Given the description of an element on the screen output the (x, y) to click on. 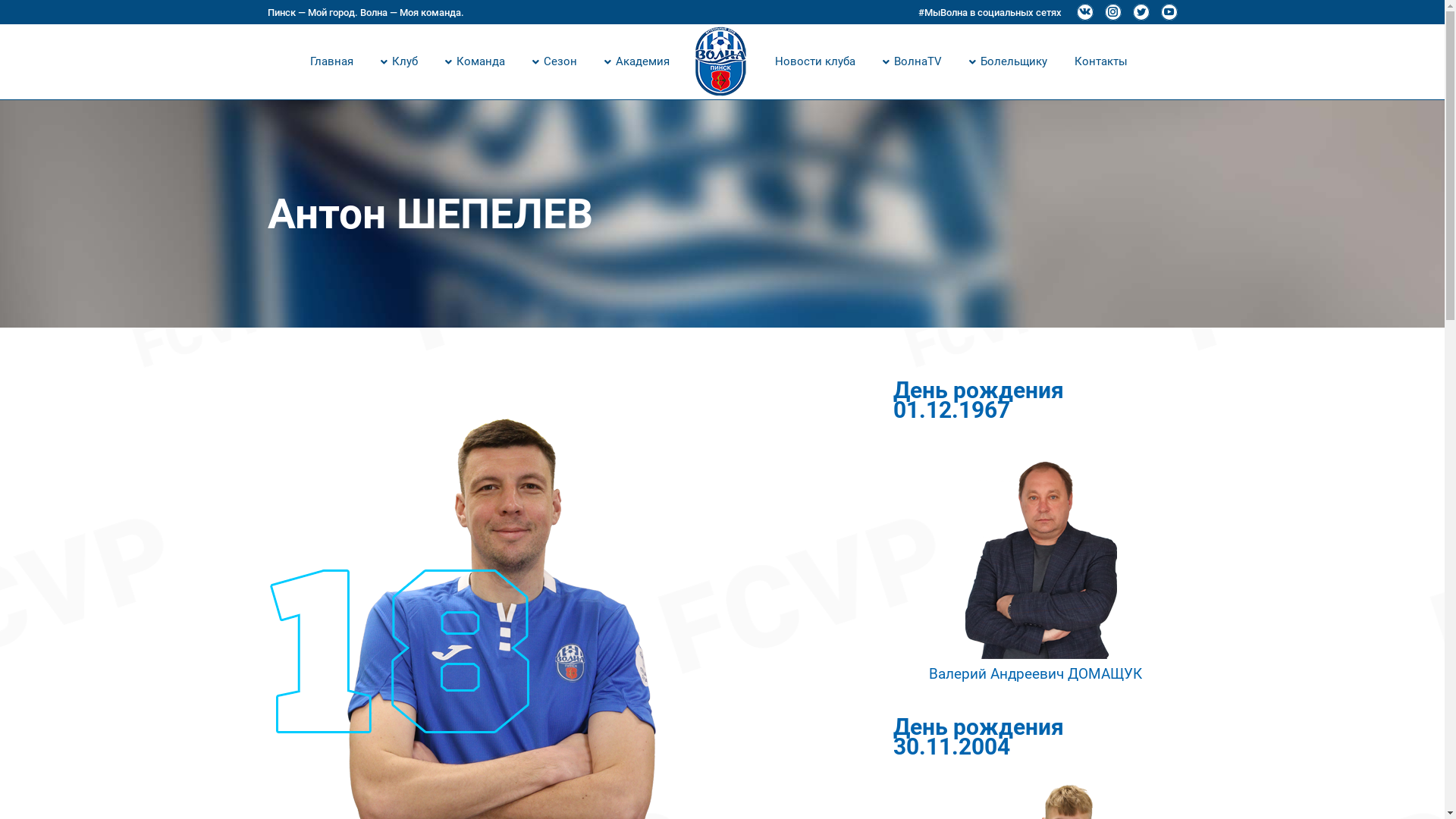
YouTube Element type: text (1168, 11)
Instagram Element type: text (1112, 11)
Twitter Element type: text (1140, 11)
